Given the description of an element on the screen output the (x, y) to click on. 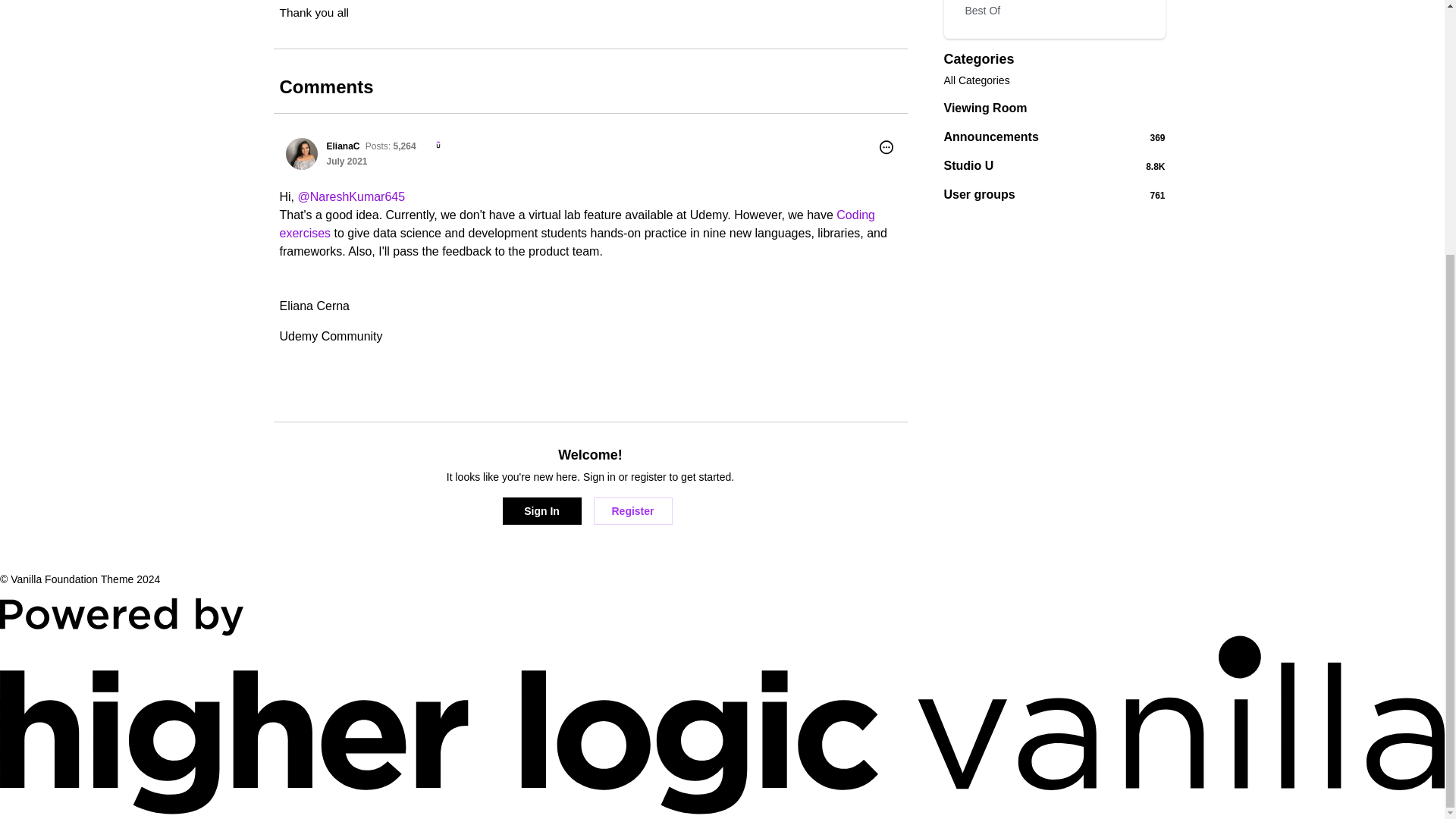
761 discussions (1157, 195)
Register (631, 510)
Sign In (541, 510)
8,783 discussions (1053, 165)
Community Moderator (1154, 166)
Viewing Room (433, 146)
Best Of (1053, 108)
Register (1054, 13)
ElianaC (631, 510)
